Given the description of an element on the screen output the (x, y) to click on. 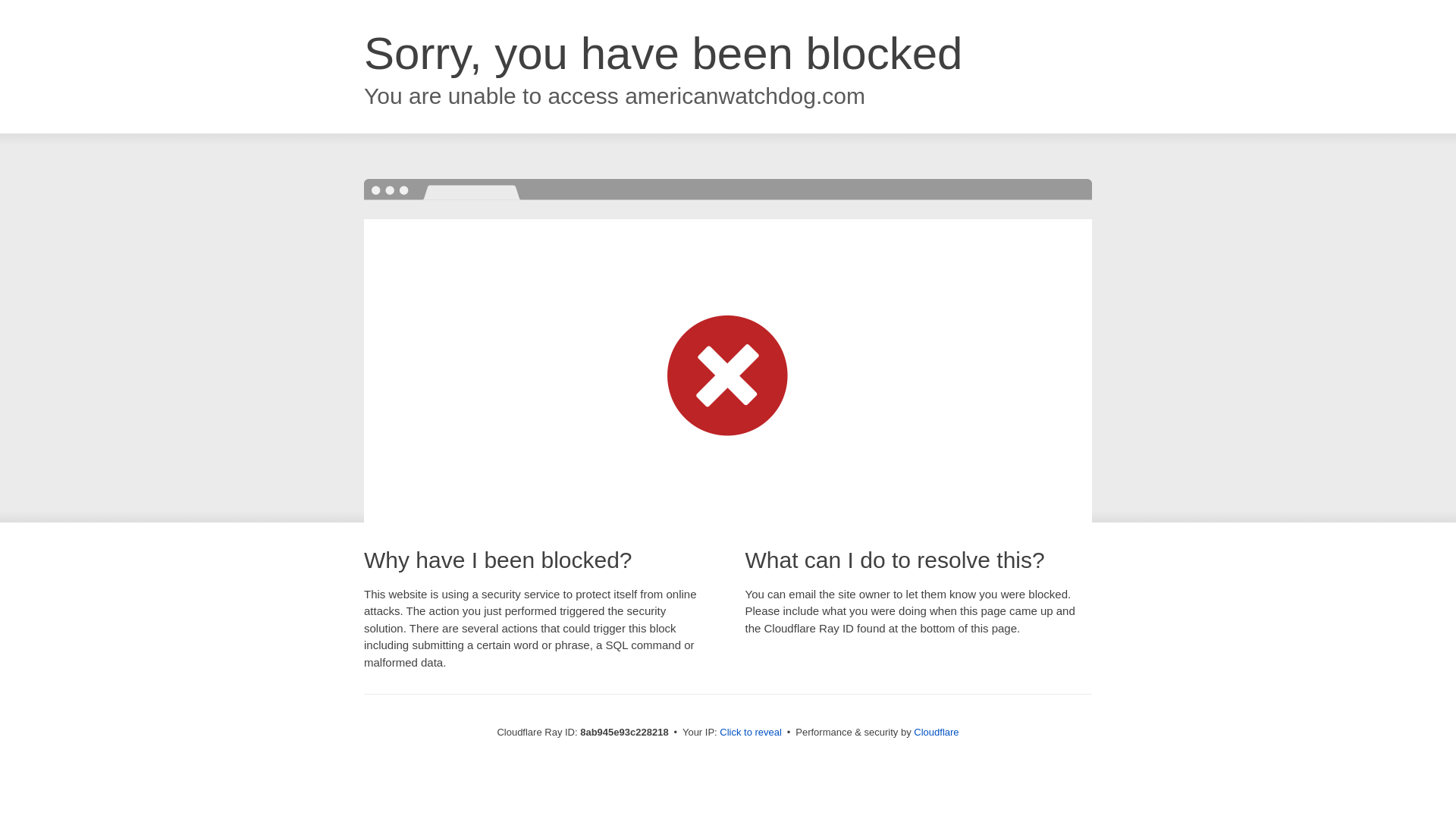
Click to reveal (750, 732)
Cloudflare (936, 731)
